Given the description of an element on the screen output the (x, y) to click on. 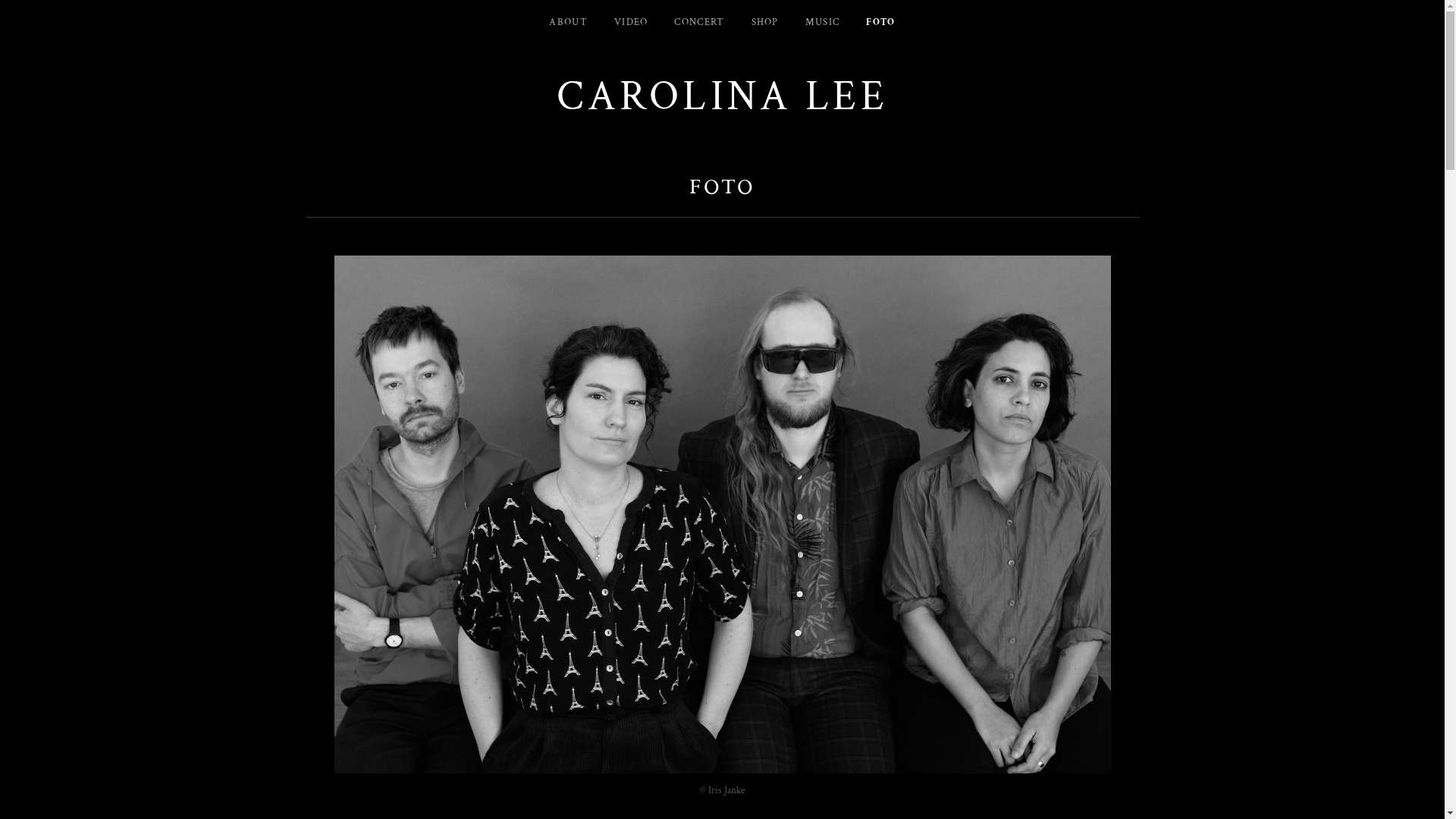
CAROLINA LEE Element type: text (722, 96)
VIDEO Element type: text (631, 22)
CONCERT Element type: text (699, 22)
SHOP Element type: text (764, 22)
MUSIC Element type: text (822, 22)
ABOUT Element type: text (567, 22)
FOTO Element type: text (879, 22)
